Given the description of an element on the screen output the (x, y) to click on. 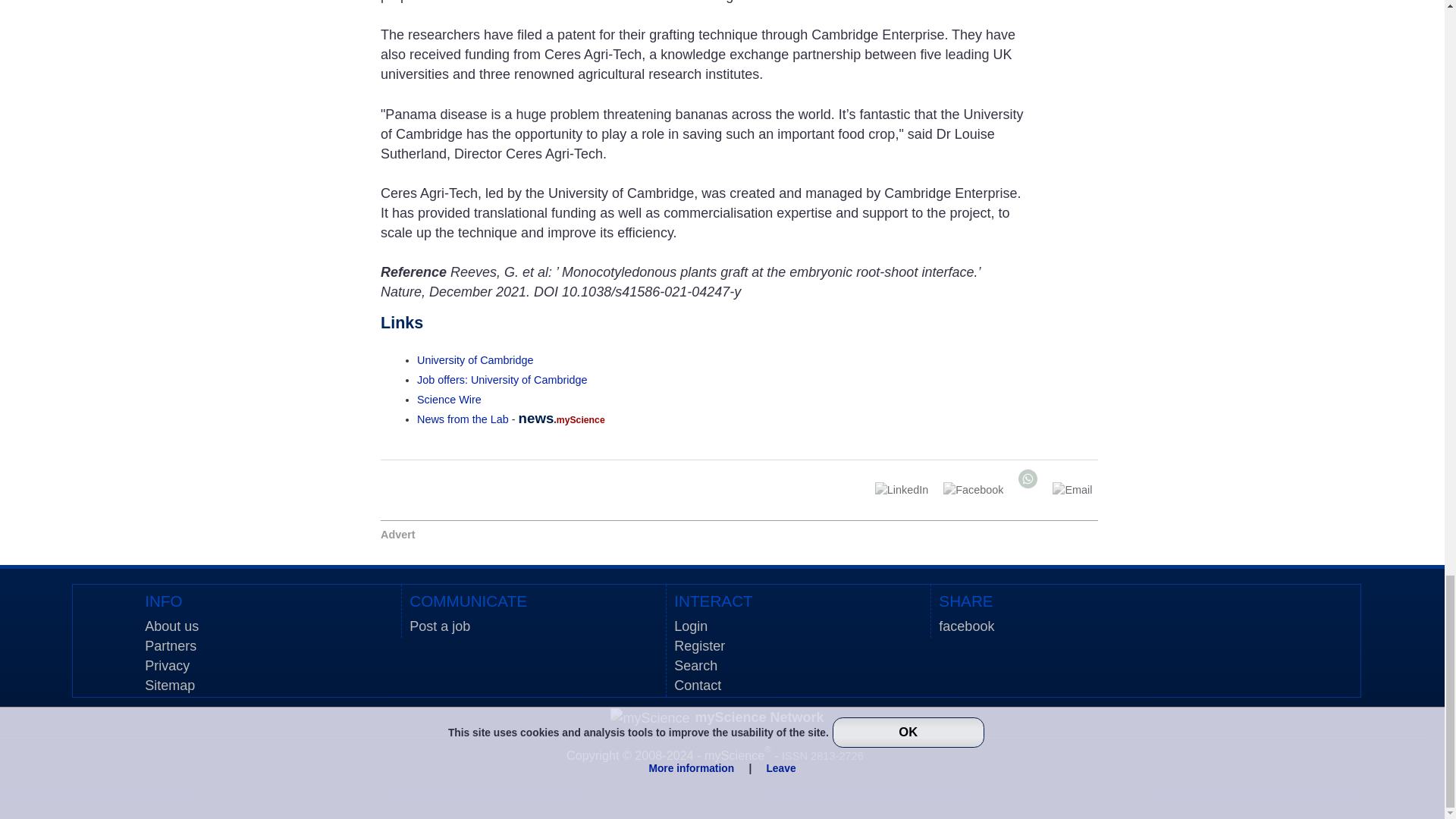
News (462, 419)
All news and press releases (448, 399)
Share on WhatsApp Web (1027, 478)
Share on Facebook (973, 489)
Share on LinkedIn (901, 489)
Send by Email (1072, 489)
